Given the description of an element on the screen output the (x, y) to click on. 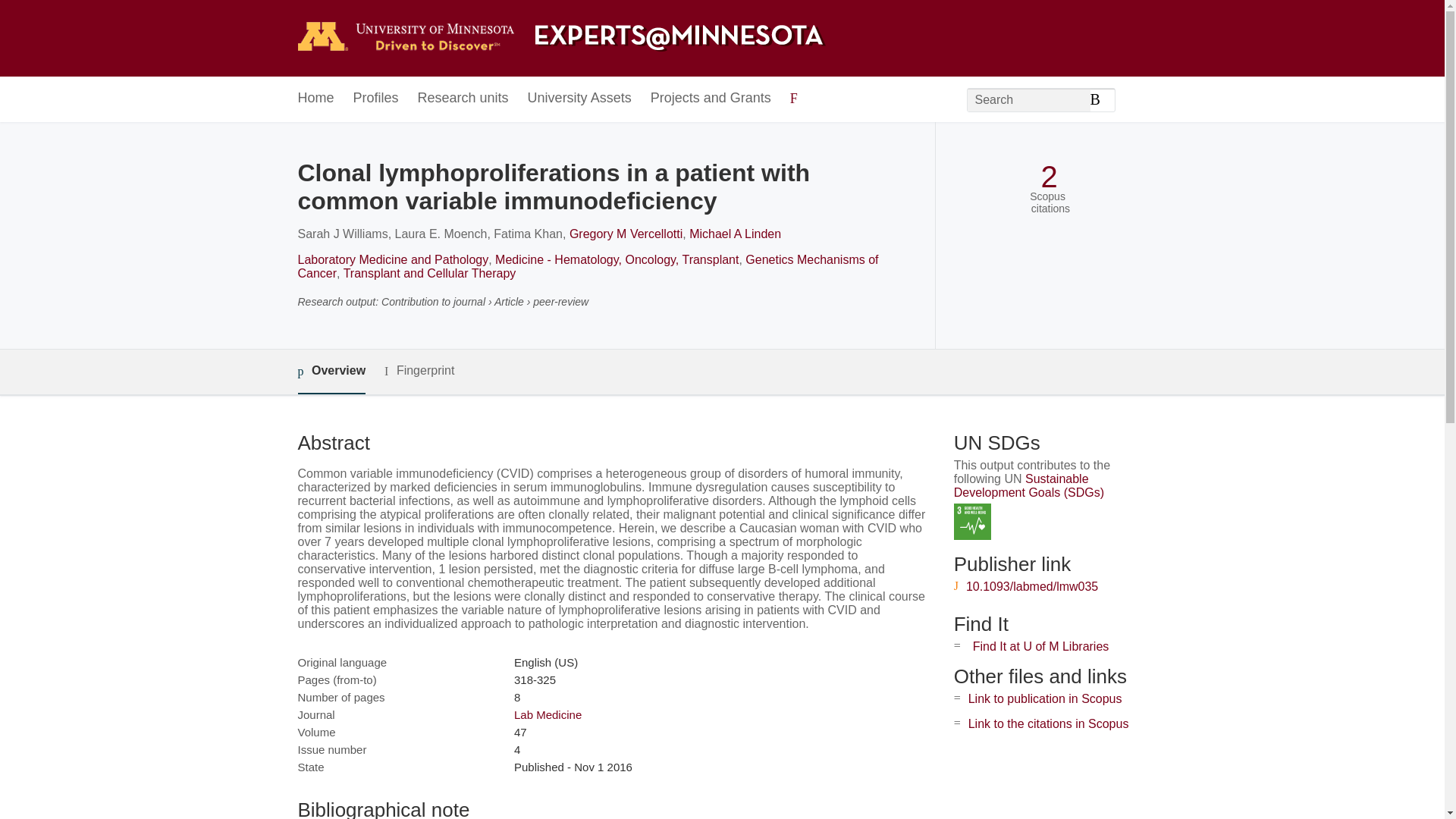
Laboratory Medicine and Pathology (392, 259)
Fingerprint (419, 371)
Find It at U of M Libraries (1040, 645)
Link to the citations in Scopus (1048, 723)
Projects and Grants (710, 98)
University Assets (579, 98)
Gregory M Vercellotti (625, 233)
Research units (462, 98)
Medicine - Hematology, Oncology, Transplant (616, 259)
Link to publication in Scopus (1045, 698)
Lab Medicine (546, 714)
Genetics Mechanisms of Cancer (587, 266)
Profiles (375, 98)
Michael A Linden (734, 233)
